Given the description of an element on the screen output the (x, y) to click on. 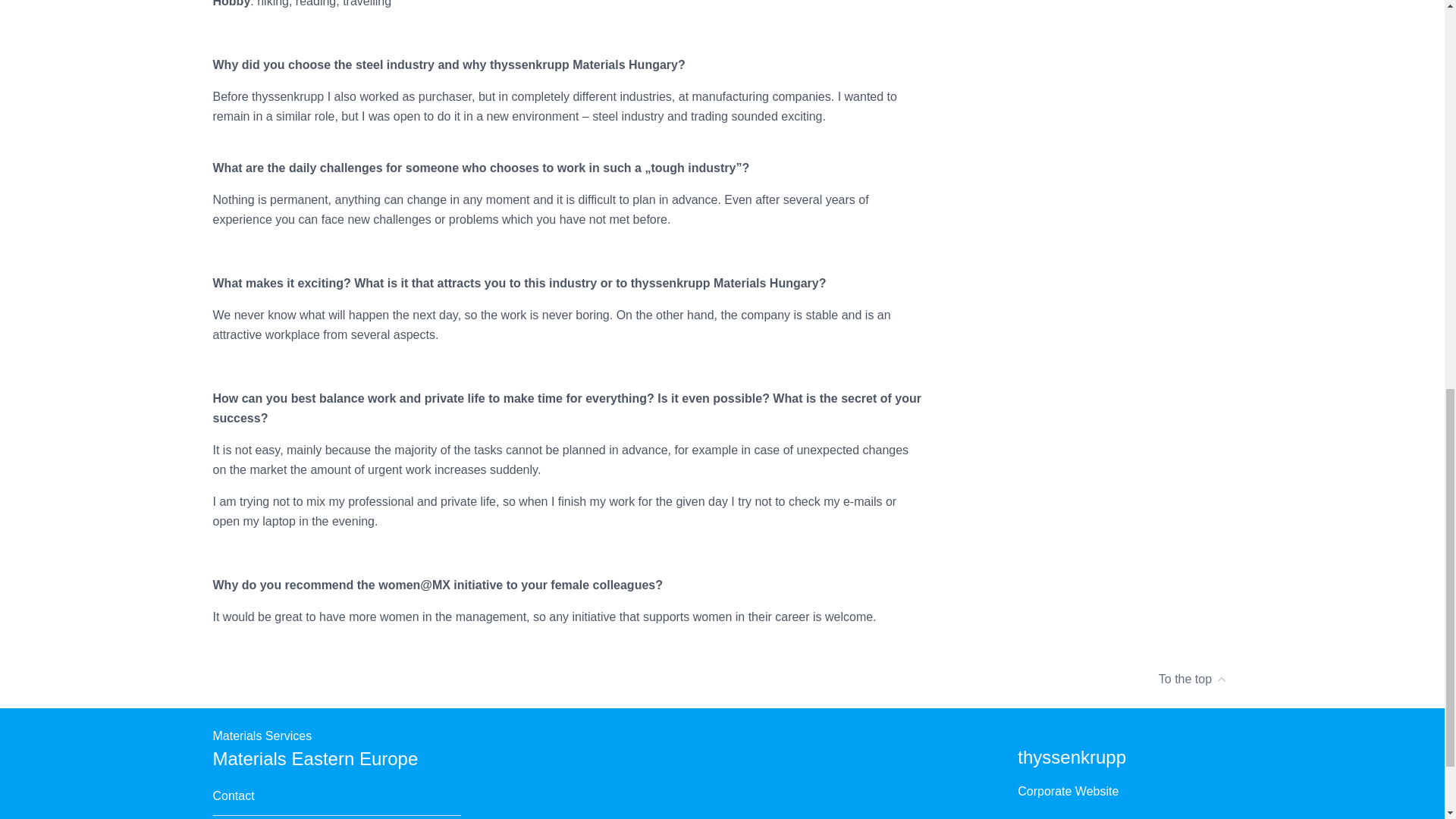
Corporate Website (1067, 791)
Contact (232, 795)
arrow-up (1220, 673)
To the top arrow-up (1192, 679)
arrow-up (1220, 679)
To the top arrow-up (721, 679)
